Given the description of an element on the screen output the (x, y) to click on. 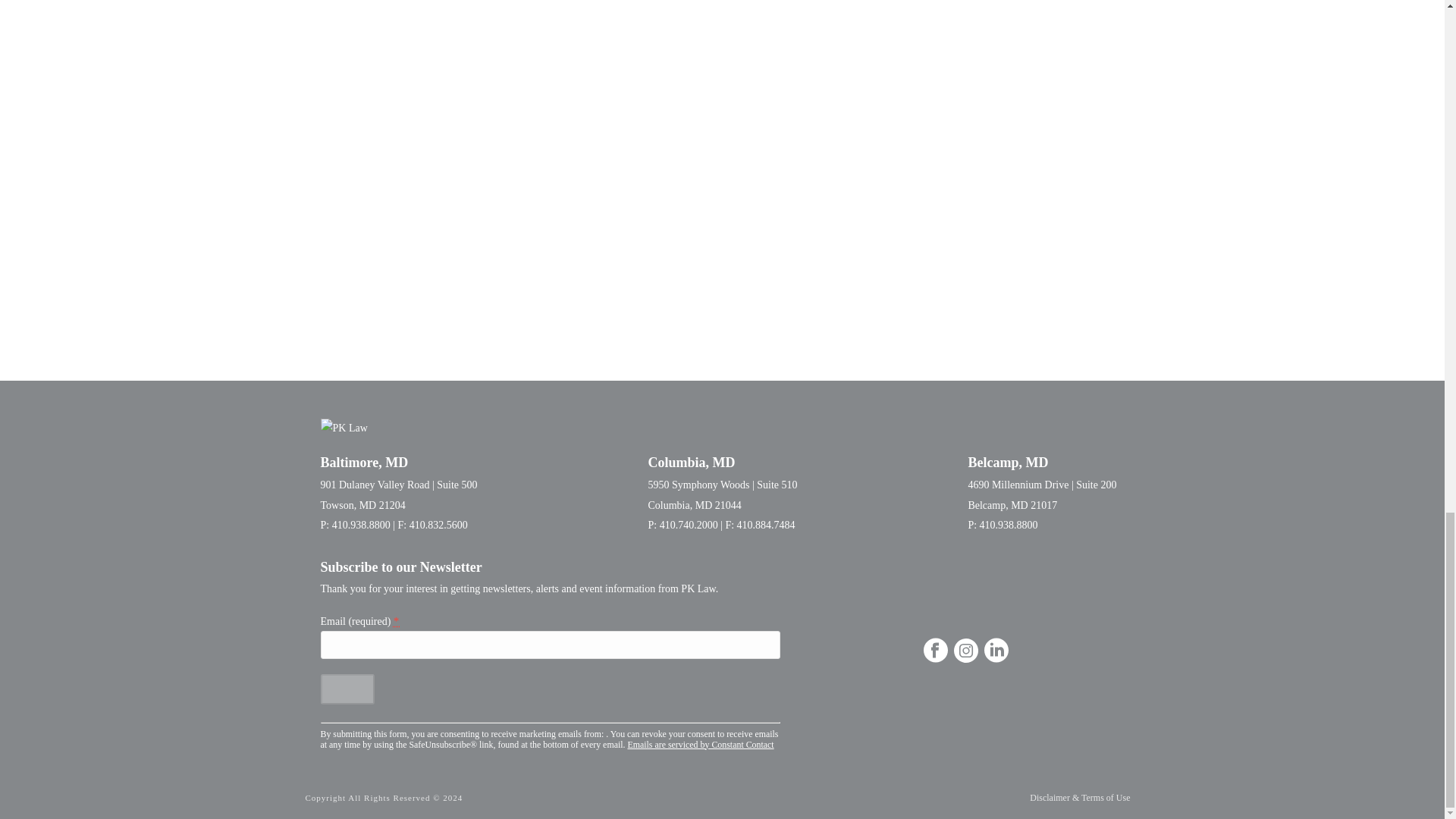
Sign up (347, 689)
